Given the description of an element on the screen output the (x, y) to click on. 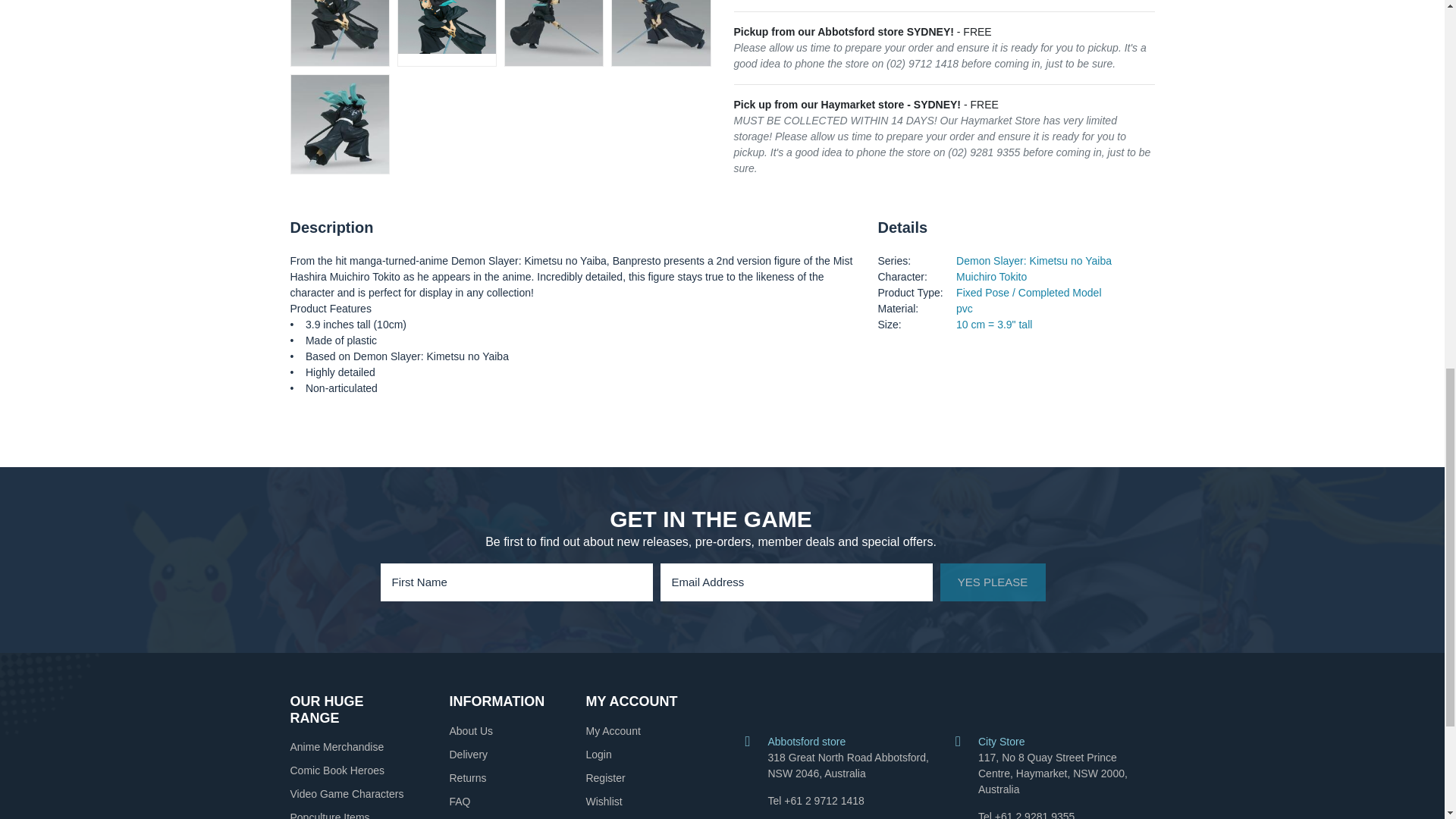
YES PLEASE (992, 582)
